Given the description of an element on the screen output the (x, y) to click on. 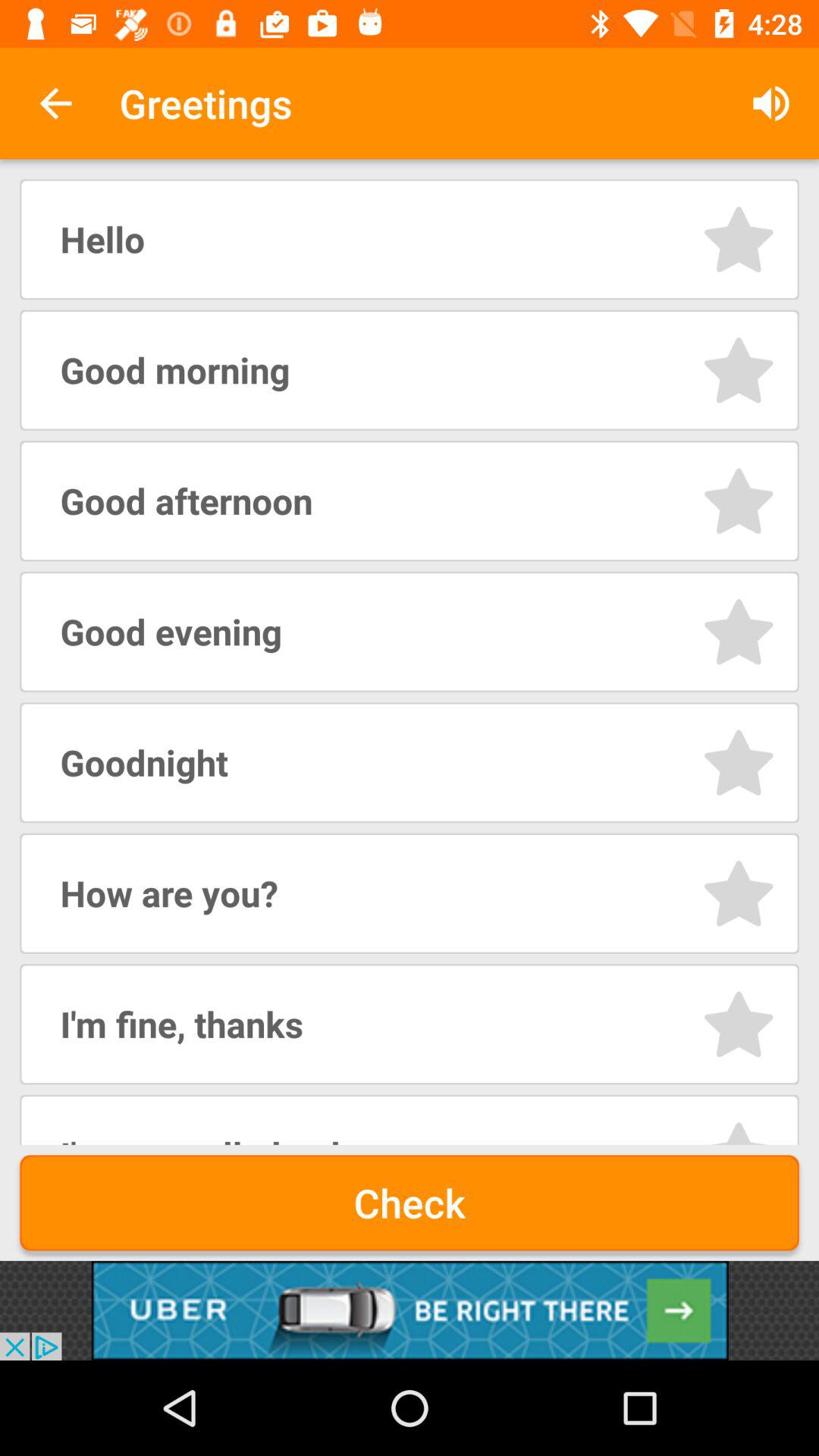
go to star (738, 893)
